Given the description of an element on the screen output the (x, y) to click on. 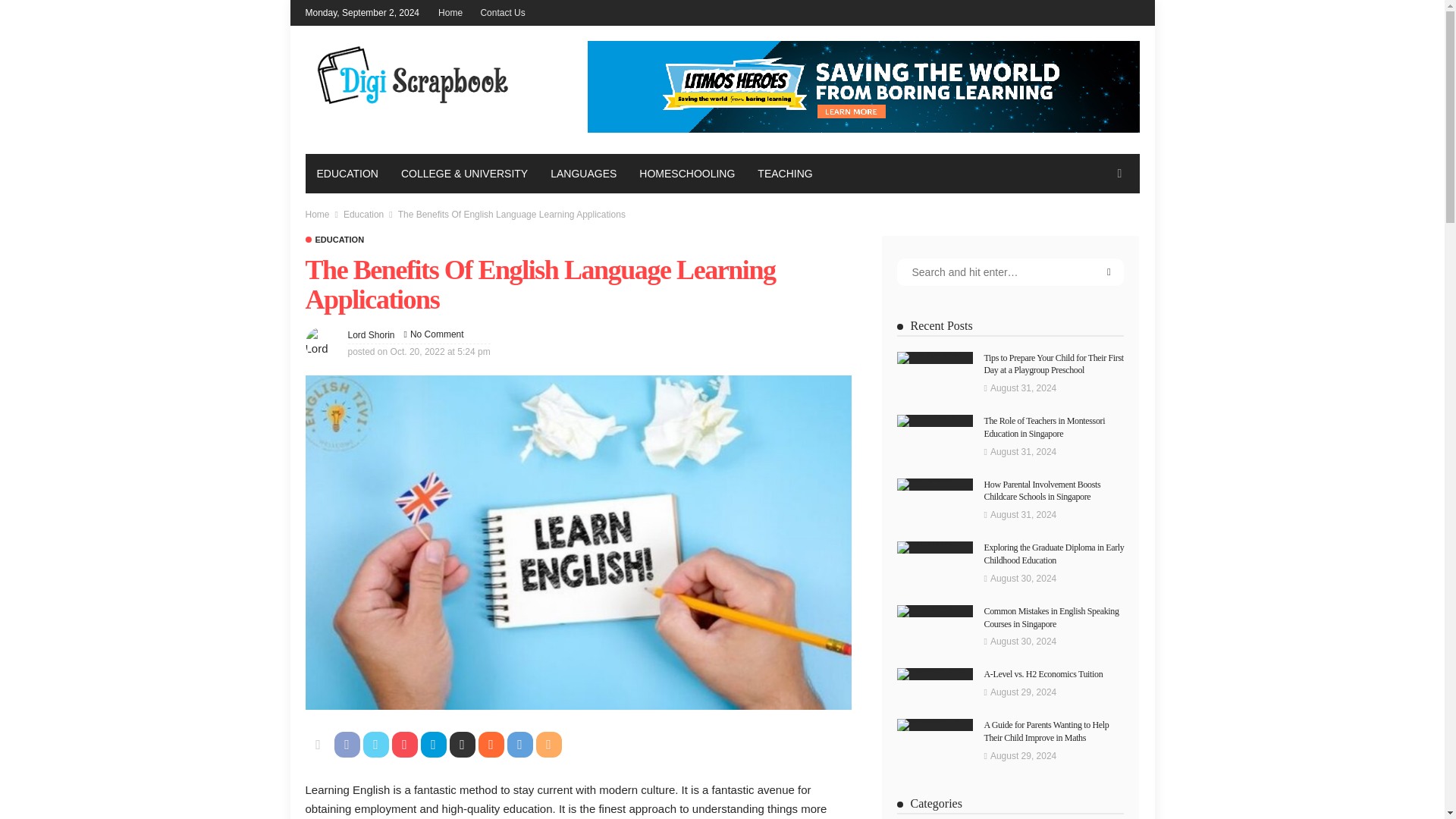
LANGUAGES (582, 172)
Home (316, 214)
The Benefits Of English Language Learning Applications (437, 334)
Home (316, 214)
The Role of Teachers in Montessori Education in Singapore (934, 420)
TEACHING (784, 172)
The Role of Teachers in Montessori Education in Singapore (1044, 426)
HOMESCHOOLING (686, 172)
